Given the description of an element on the screen output the (x, y) to click on. 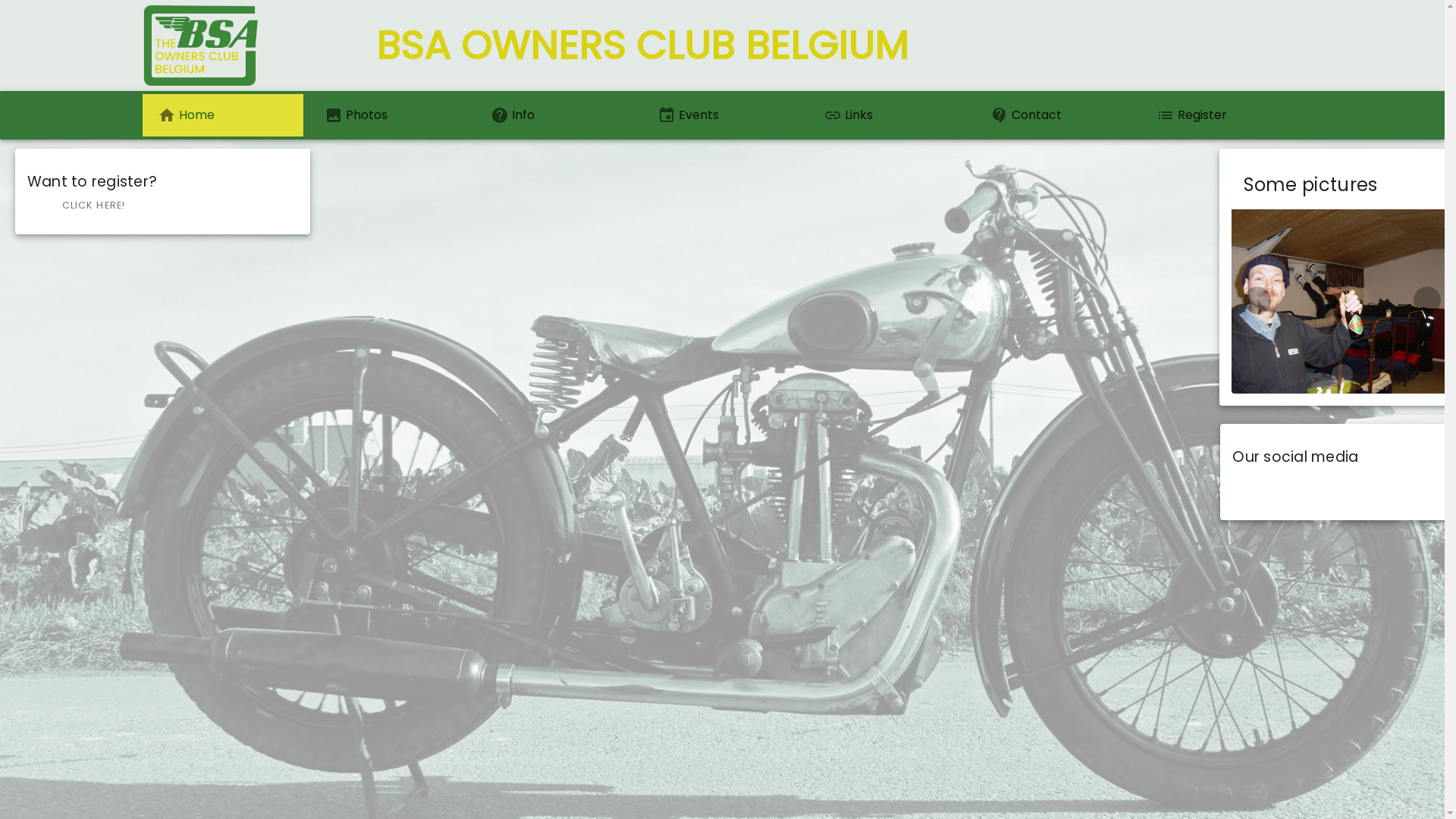
image
Photos Element type: text (389, 115)
event
Events Element type: text (722, 115)
list
Register Element type: text (1221, 115)
contact_support
Contact Element type: text (1055, 115)
window
CLICK HERE! Element type: text (83, 205)
help
Info Element type: text (555, 115)
0 Element type: text (1341, 374)
home
Home Element type: text (222, 115)
link
Links Element type: text (888, 115)
